Given the description of an element on the screen output the (x, y) to click on. 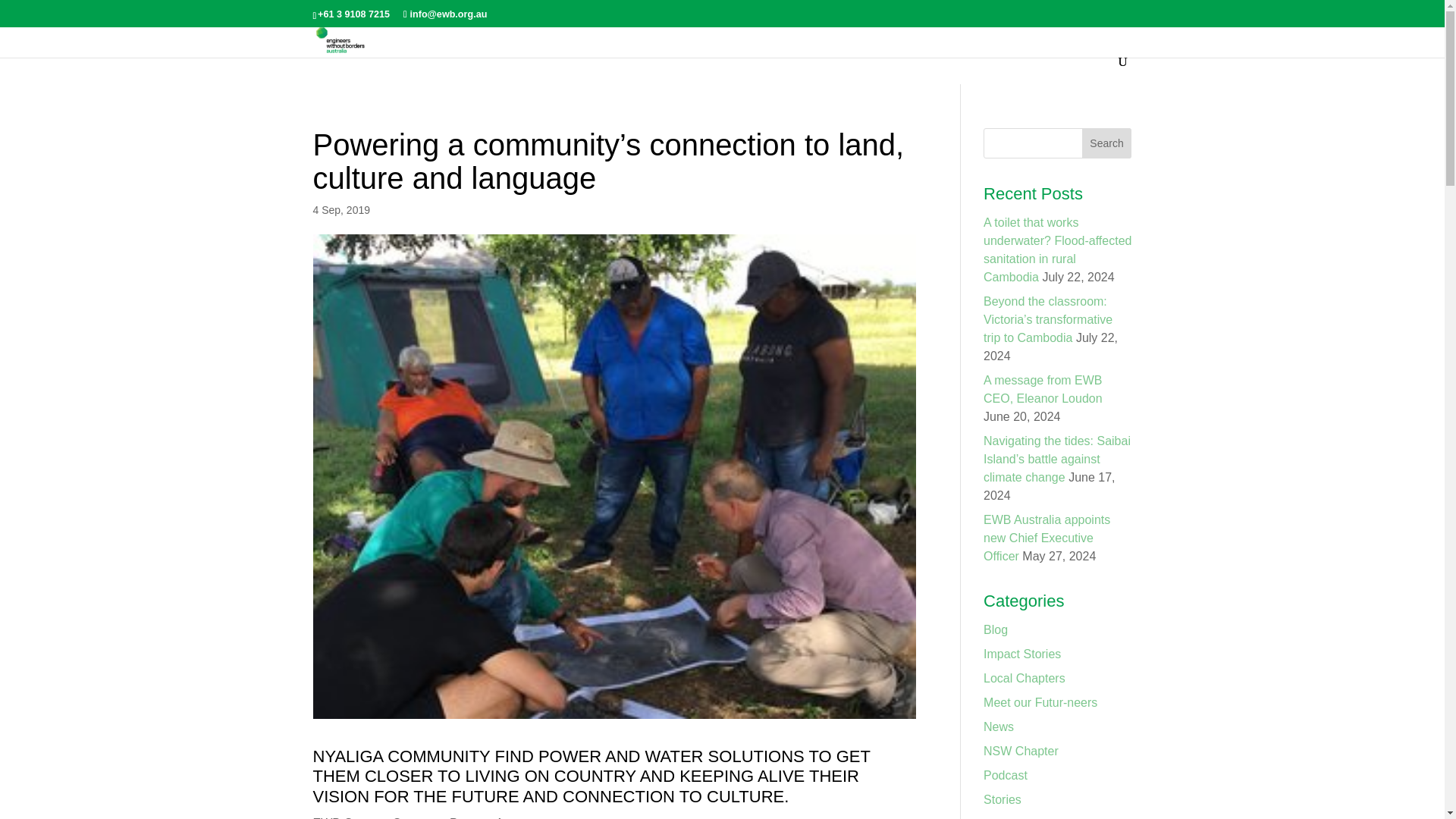
Search (1106, 142)
